Given the description of an element on the screen output the (x, y) to click on. 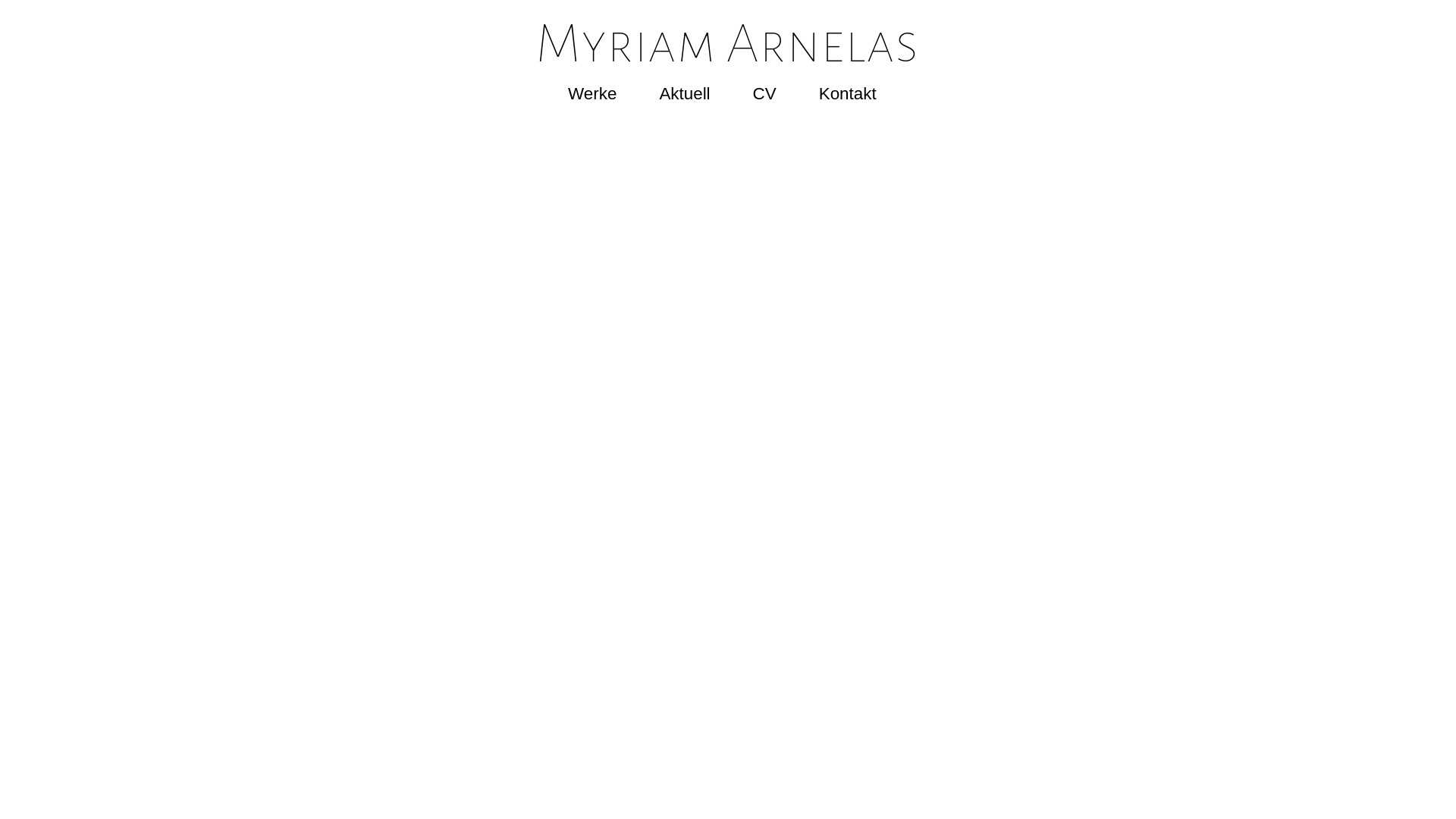
Aktuell Element type: text (683, 93)
Kontakt Element type: text (847, 93)
Werke Element type: text (591, 93)
CV Element type: text (764, 93)
